Given the description of an element on the screen output the (x, y) to click on. 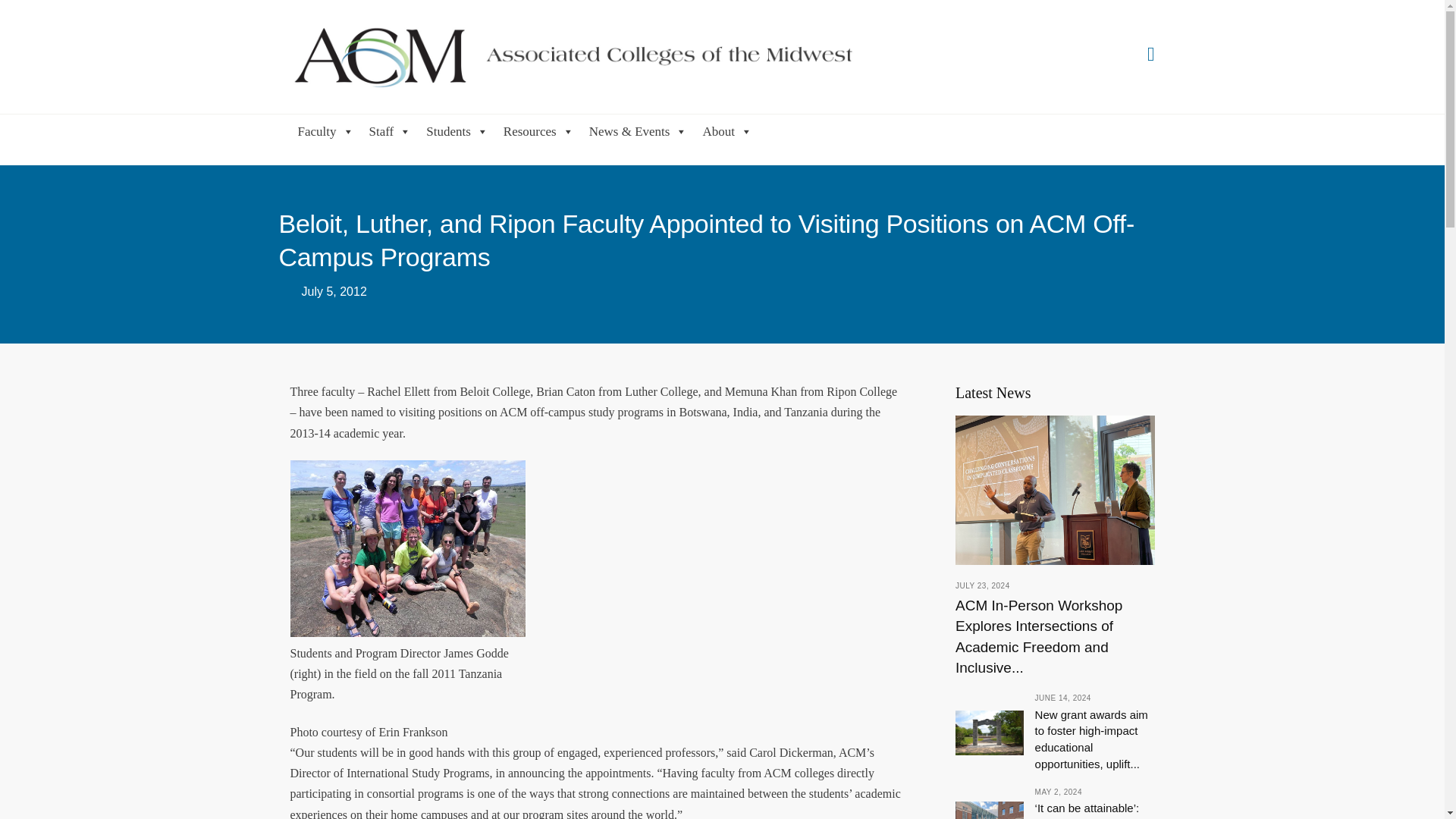
Resources (538, 129)
Students (457, 129)
Faculty (325, 129)
Staff (390, 129)
